Given the description of an element on the screen output the (x, y) to click on. 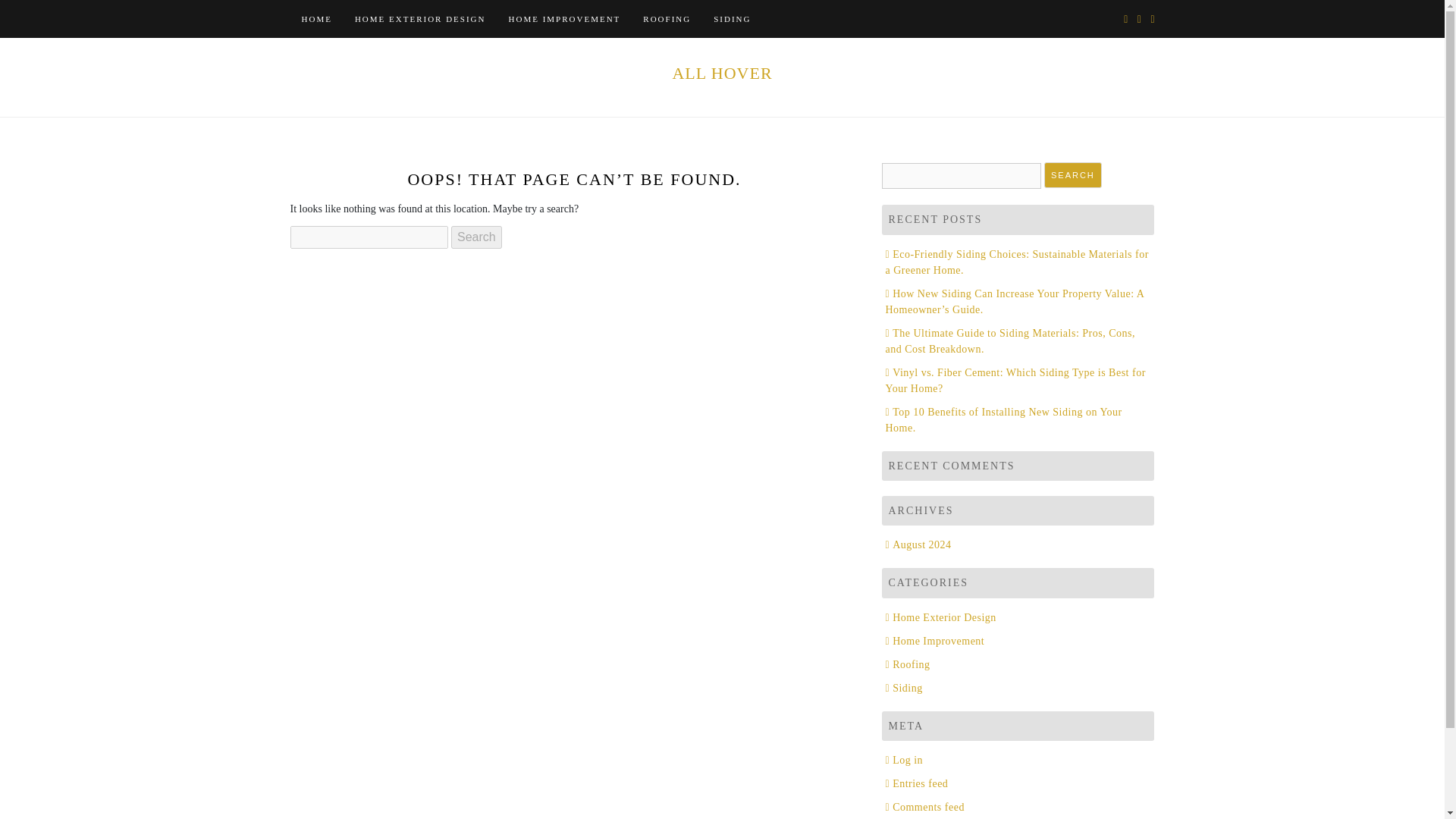
Search (1072, 175)
HOME EXTERIOR DESIGN (420, 18)
Siding (904, 687)
Log in (904, 759)
Roofing (907, 664)
Entries feed (917, 783)
Home Exterior Design (940, 617)
ROOFING (666, 18)
ALL HOVER (721, 72)
